Given the description of an element on the screen output the (x, y) to click on. 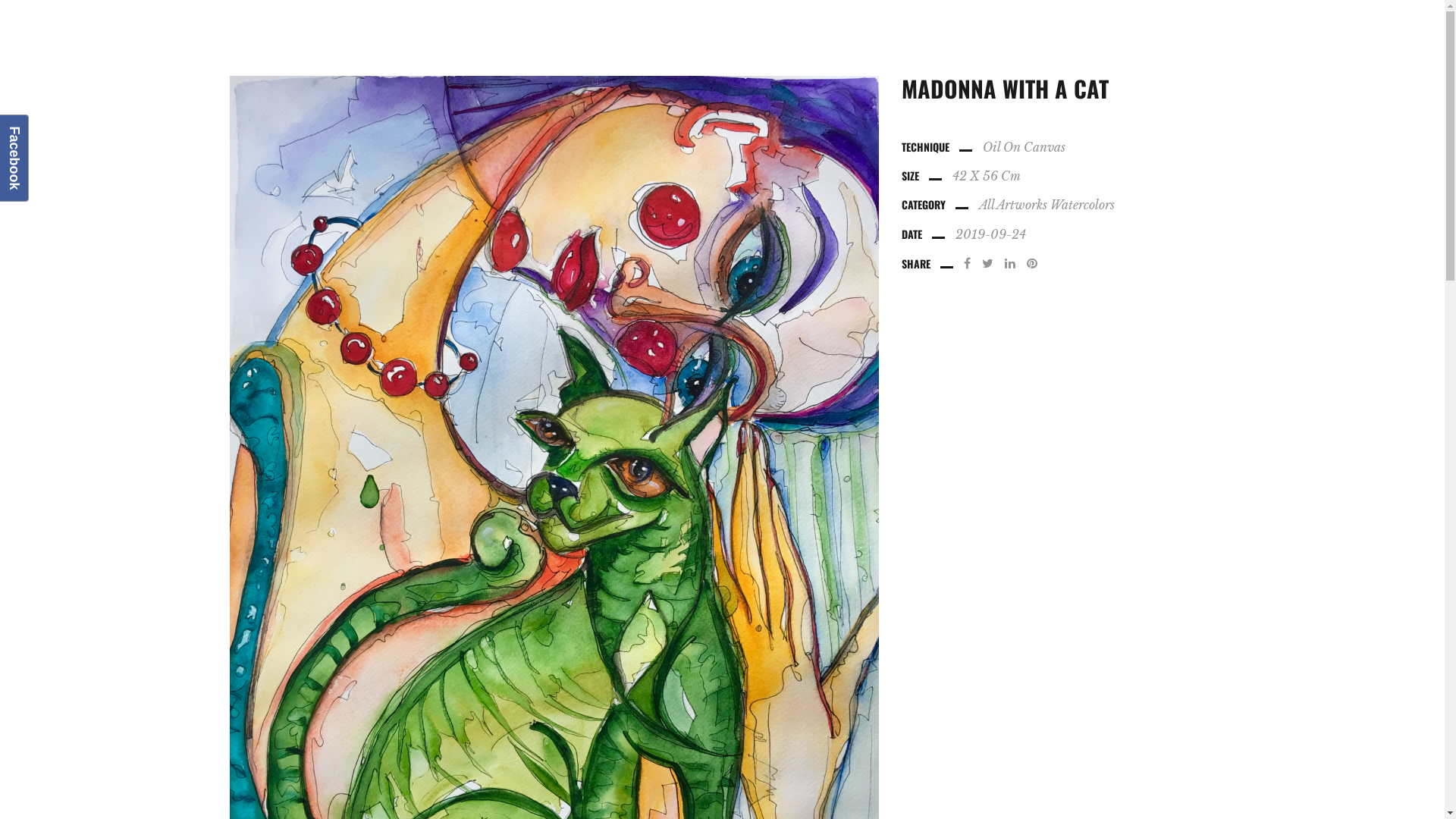
Watercolors Element type: text (1082, 204)
CONTACT Element type: text (1332, 37)
OIL PAINTINGS Element type: text (1156, 37)
ABOUT Element type: text (1081, 37)
WATERCOLORS Element type: text (1251, 37)
All Artworks Element type: text (1013, 204)
